Given the description of an element on the screen output the (x, y) to click on. 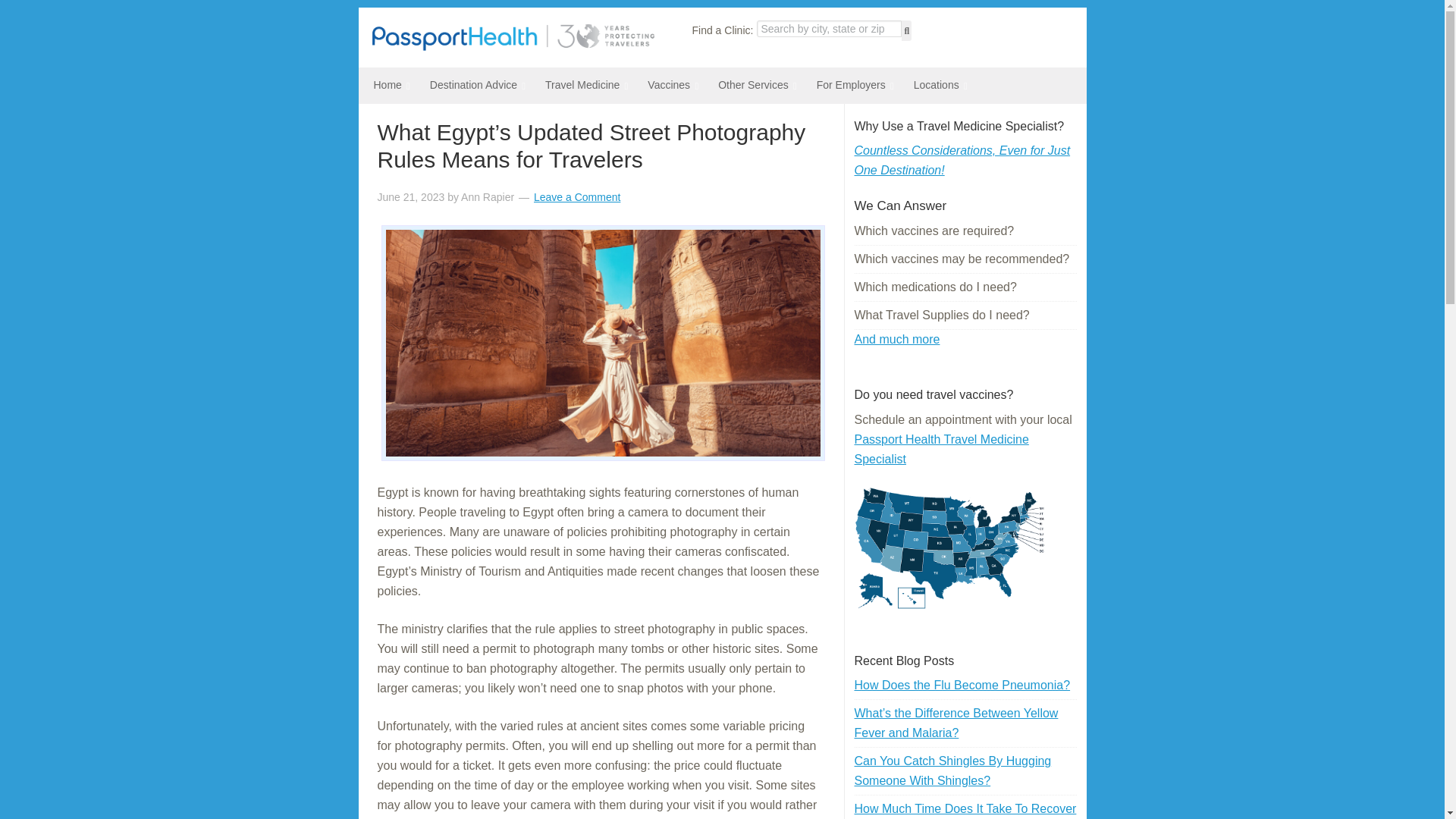
Home (385, 85)
Destination Advice (471, 85)
Passport Health (512, 46)
